Given the description of an element on the screen output the (x, y) to click on. 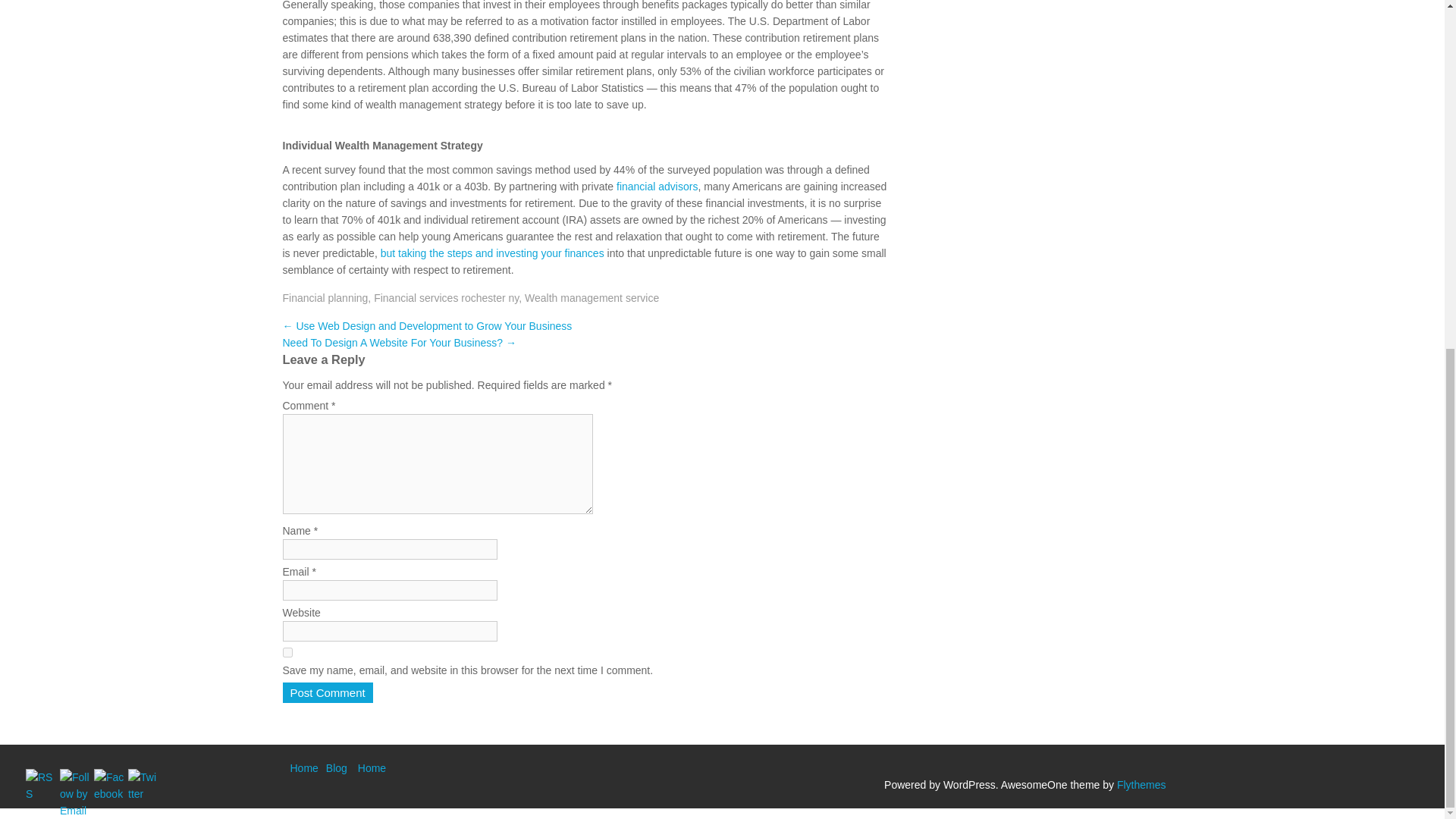
Post Comment (327, 692)
Financial planning (325, 297)
Check this out (492, 253)
Facebook (108, 785)
Wealth management service (591, 297)
yes (287, 652)
but taking the steps and investing your finances (492, 253)
Home (303, 767)
Home (371, 767)
Financial planner, Financial planner (656, 186)
